Given the description of an element on the screen output the (x, y) to click on. 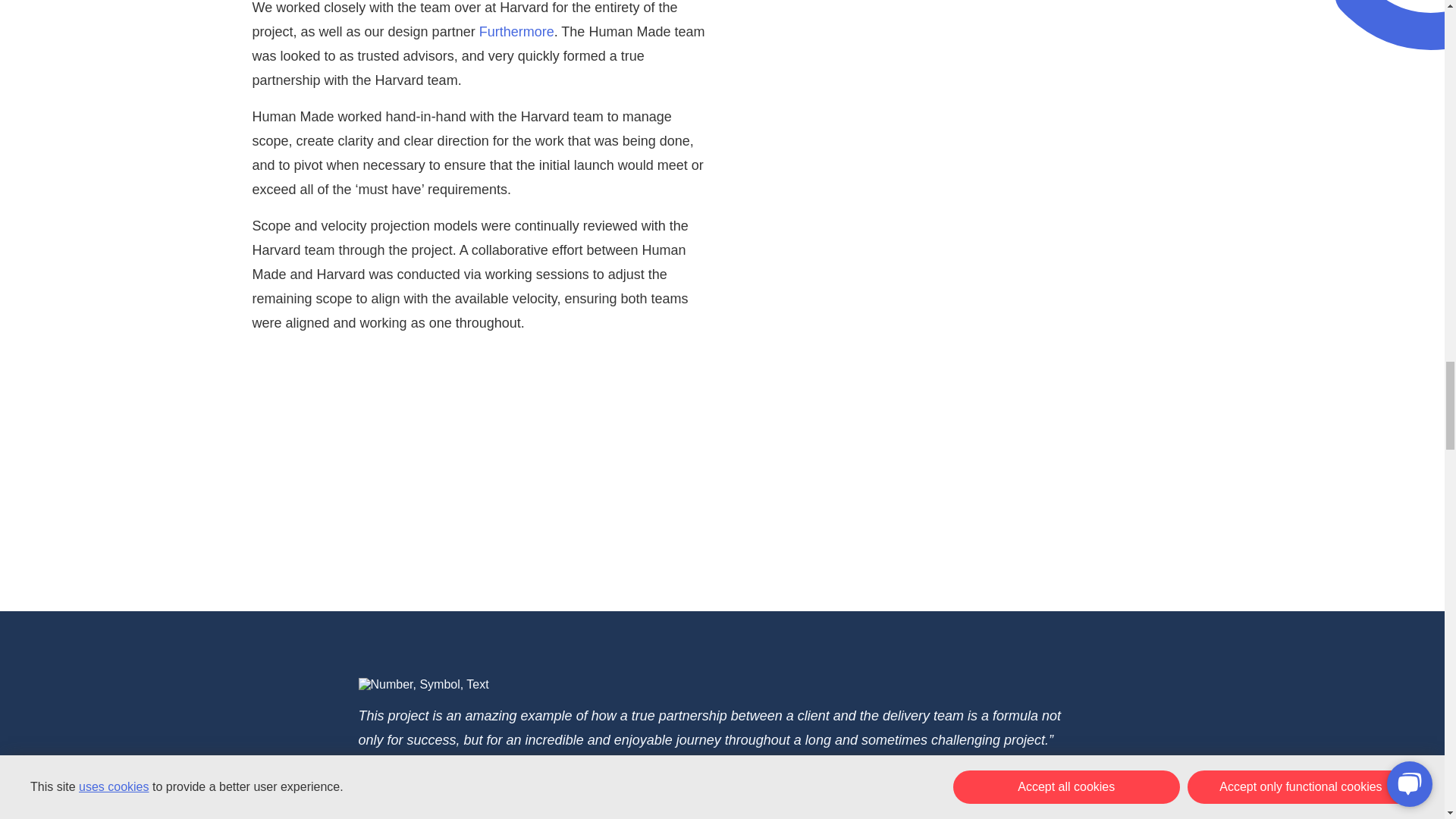
Furthermore (516, 31)
quote-profile (373, 779)
